Given the description of an element on the screen output the (x, y) to click on. 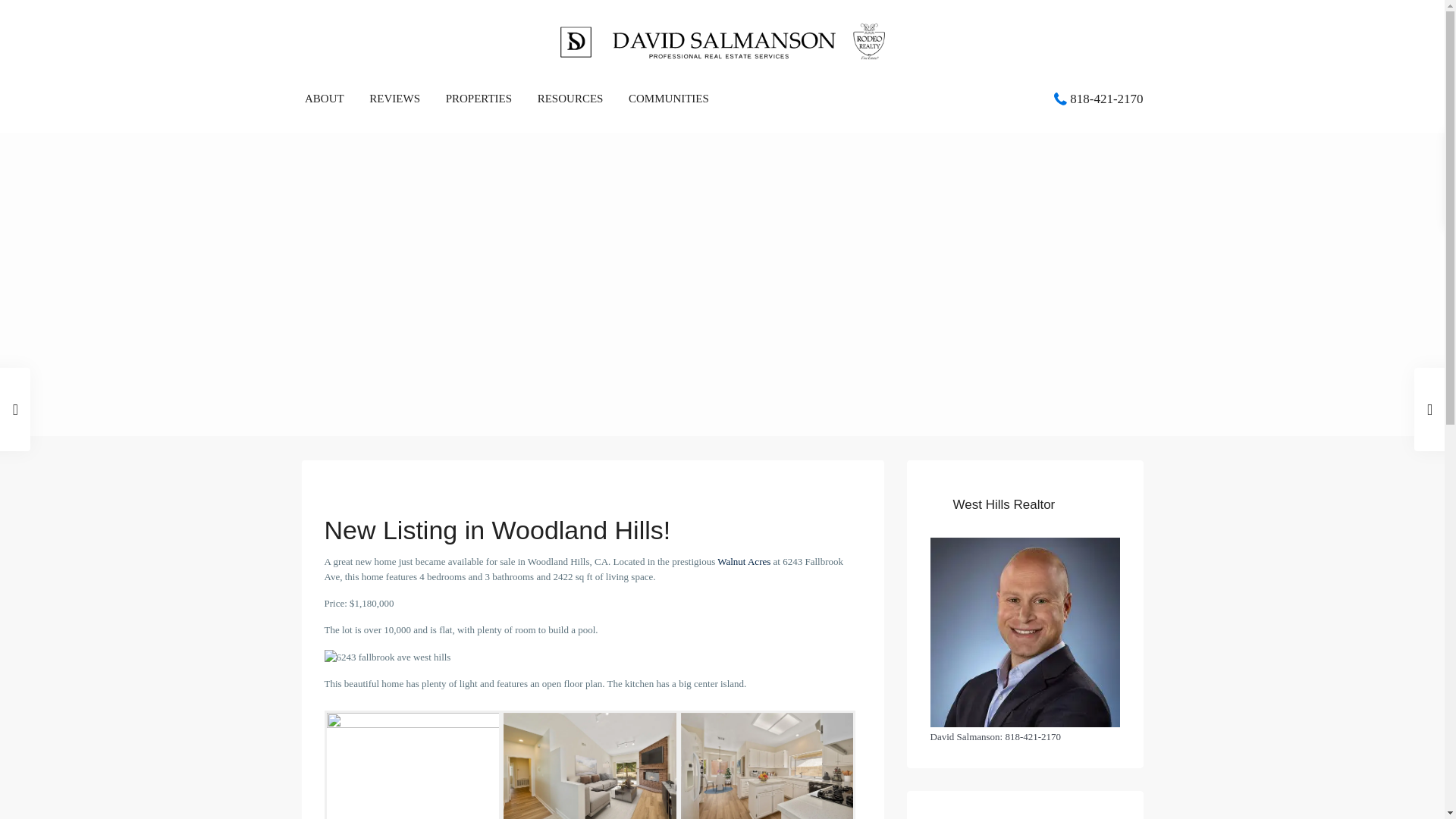
West Hills Realtor (1024, 632)
Realtor Websites (942, 795)
